Given the description of an element on the screen output the (x, y) to click on. 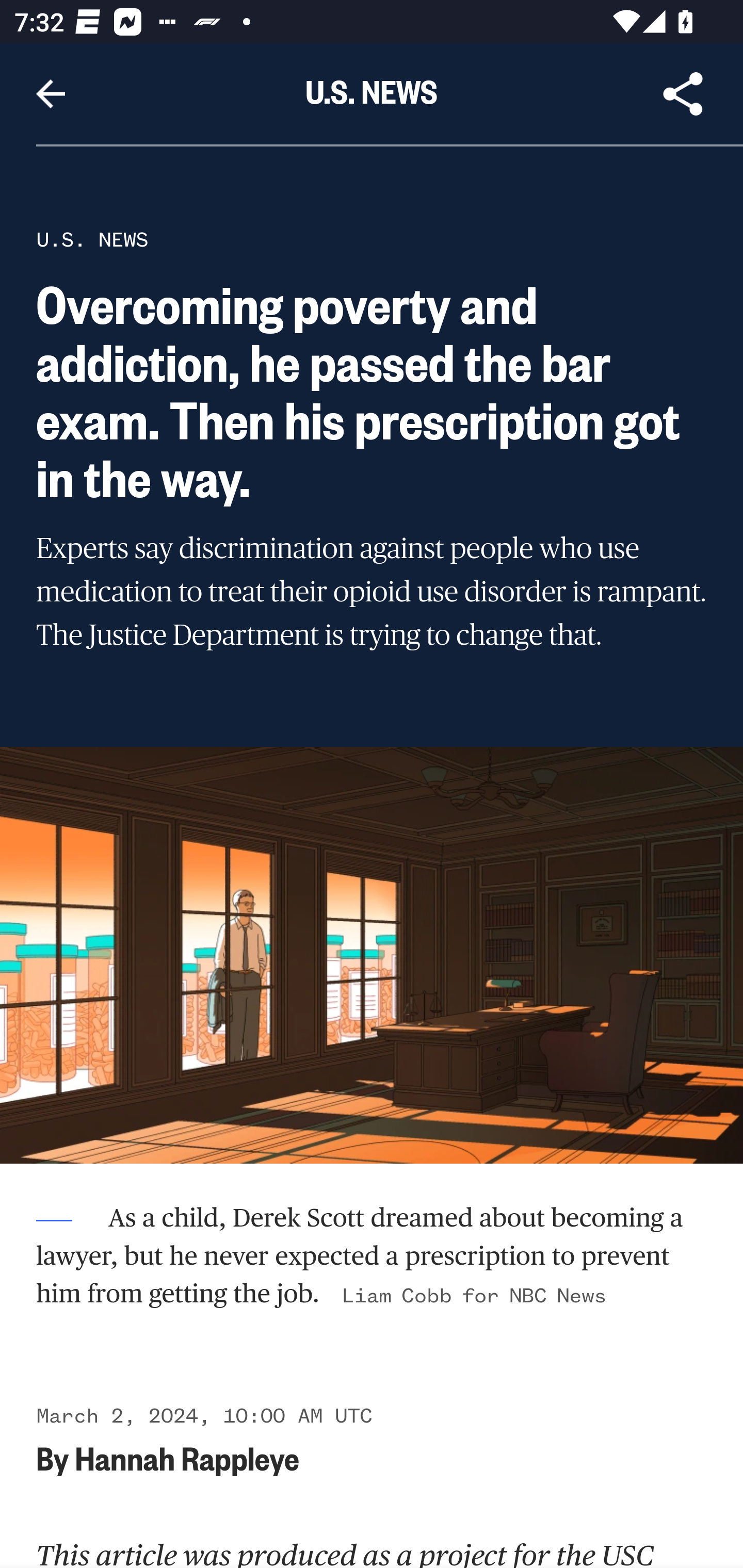
Navigate up (50, 93)
Share Article, button (683, 94)
U.S. NEWS (91, 239)
